Given the description of an element on the screen output the (x, y) to click on. 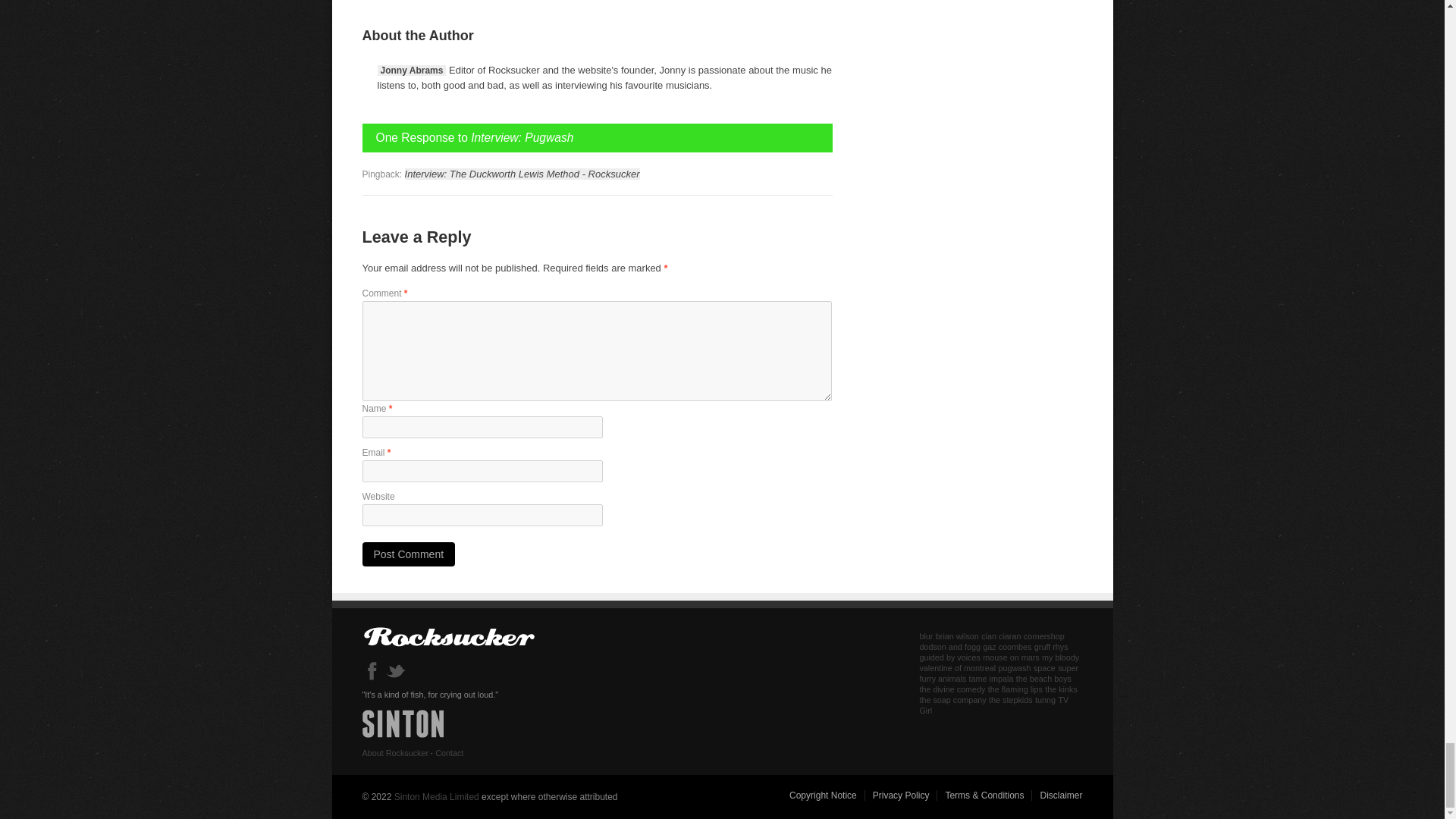
Post Comment (408, 554)
Posts by Jonny Abrams (411, 70)
